Given the description of an element on the screen output the (x, y) to click on. 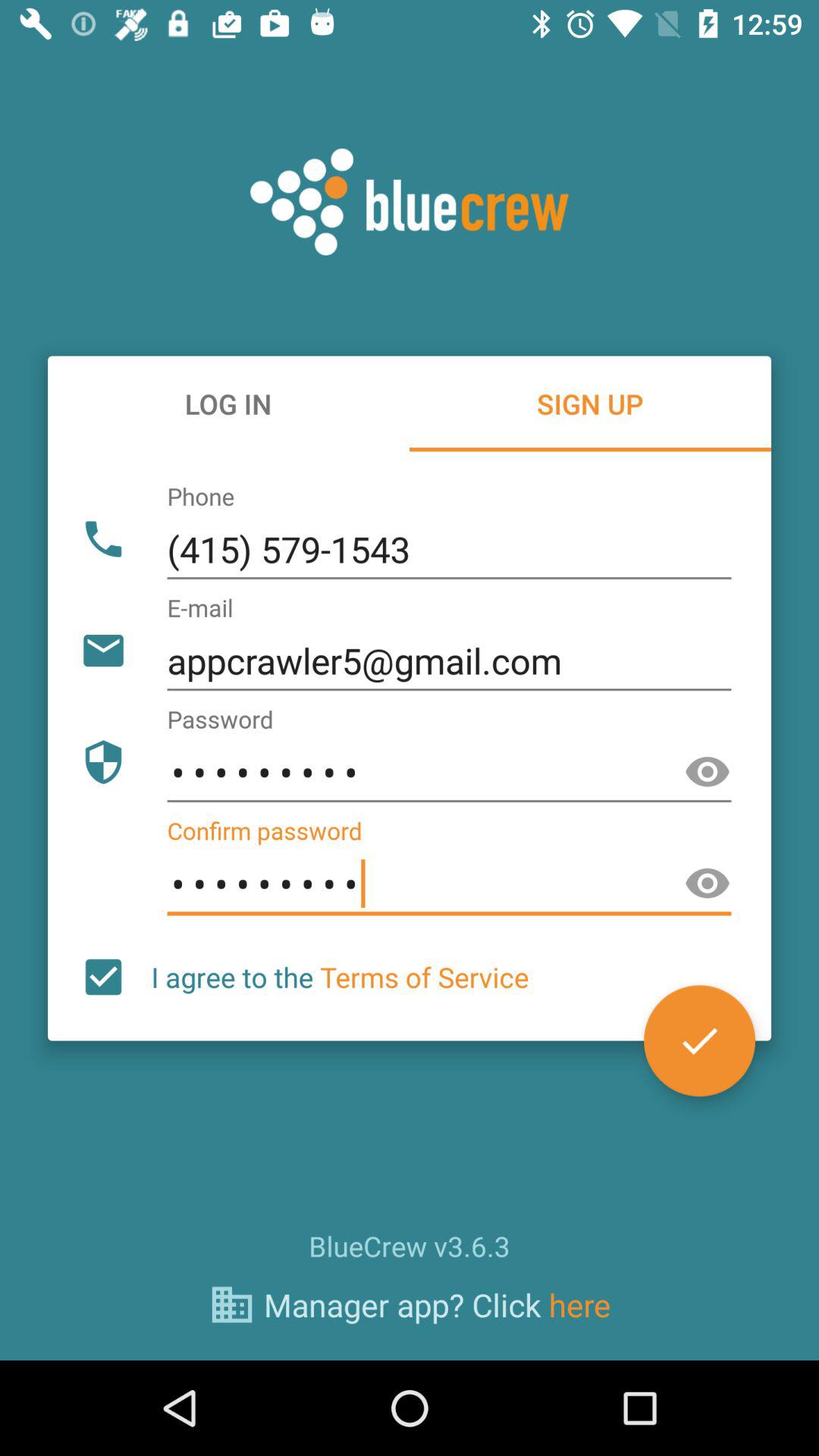
go to favorite (699, 1040)
